Given the description of an element on the screen output the (x, y) to click on. 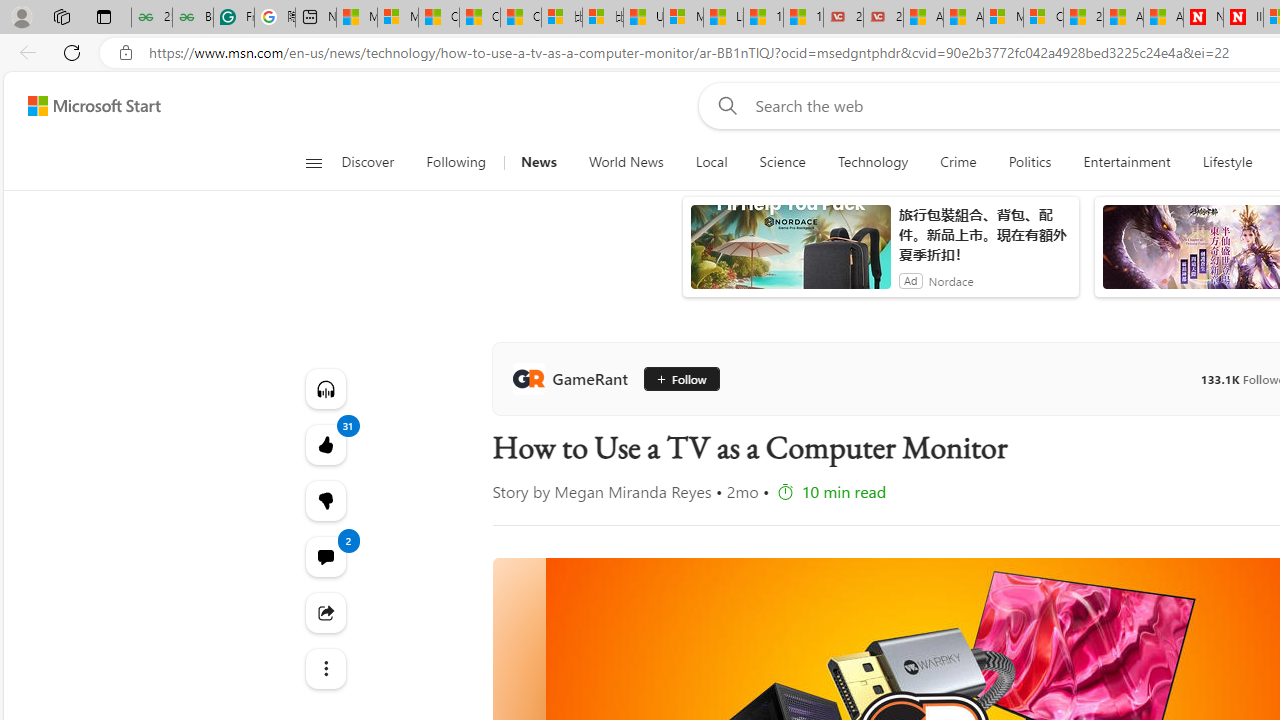
Crime (958, 162)
World News (625, 162)
Lifestyle - MSN (723, 17)
anim-content (789, 255)
25 Basic Linux Commands For Beginners - GeeksforGeeks (151, 17)
Science (781, 162)
Crime (957, 162)
Skip to footer (82, 105)
